Given the description of an element on the screen output the (x, y) to click on. 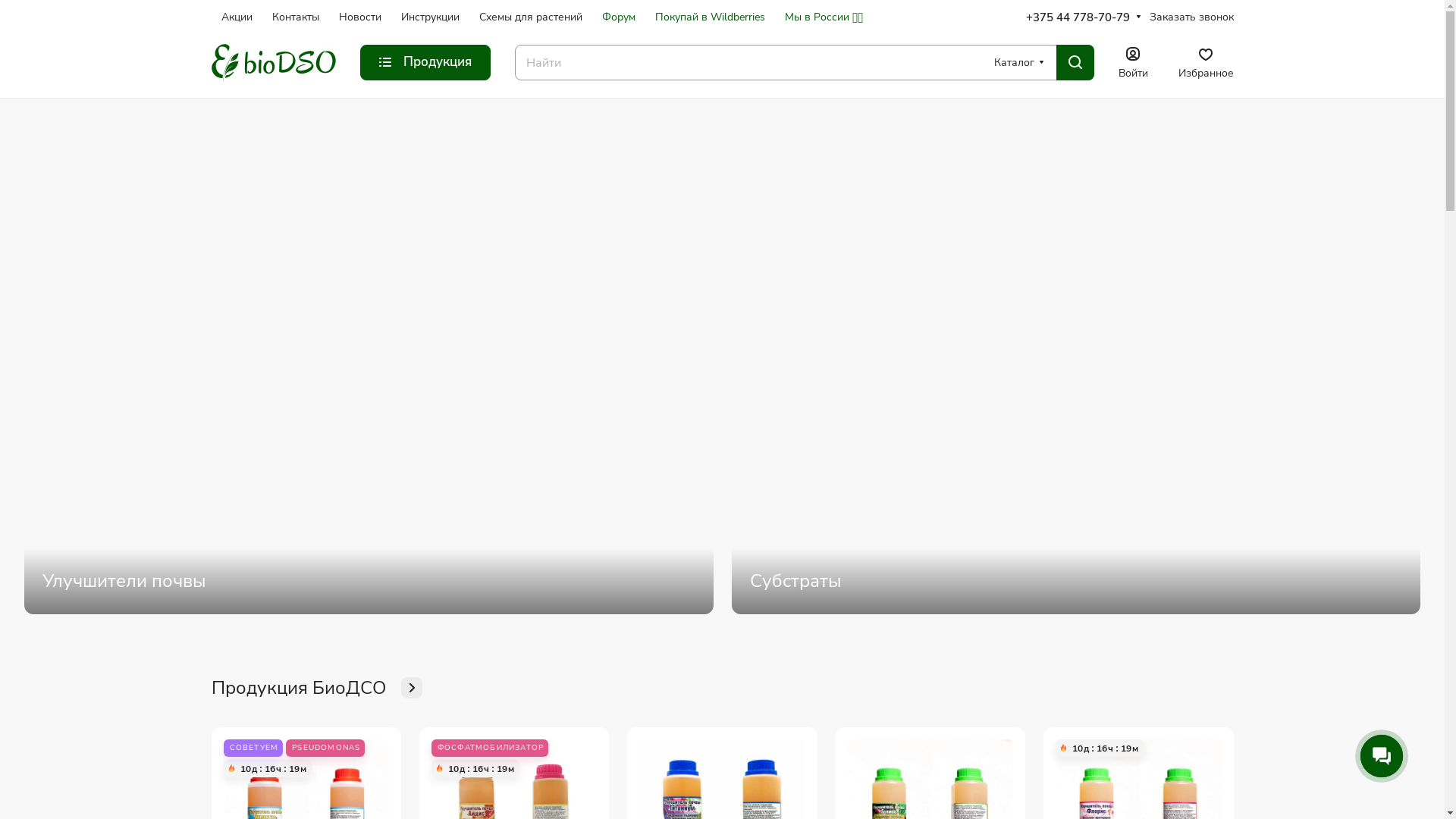
+375 44 778-70-79 Element type: text (1077, 17)
